Given the description of an element on the screen output the (x, y) to click on. 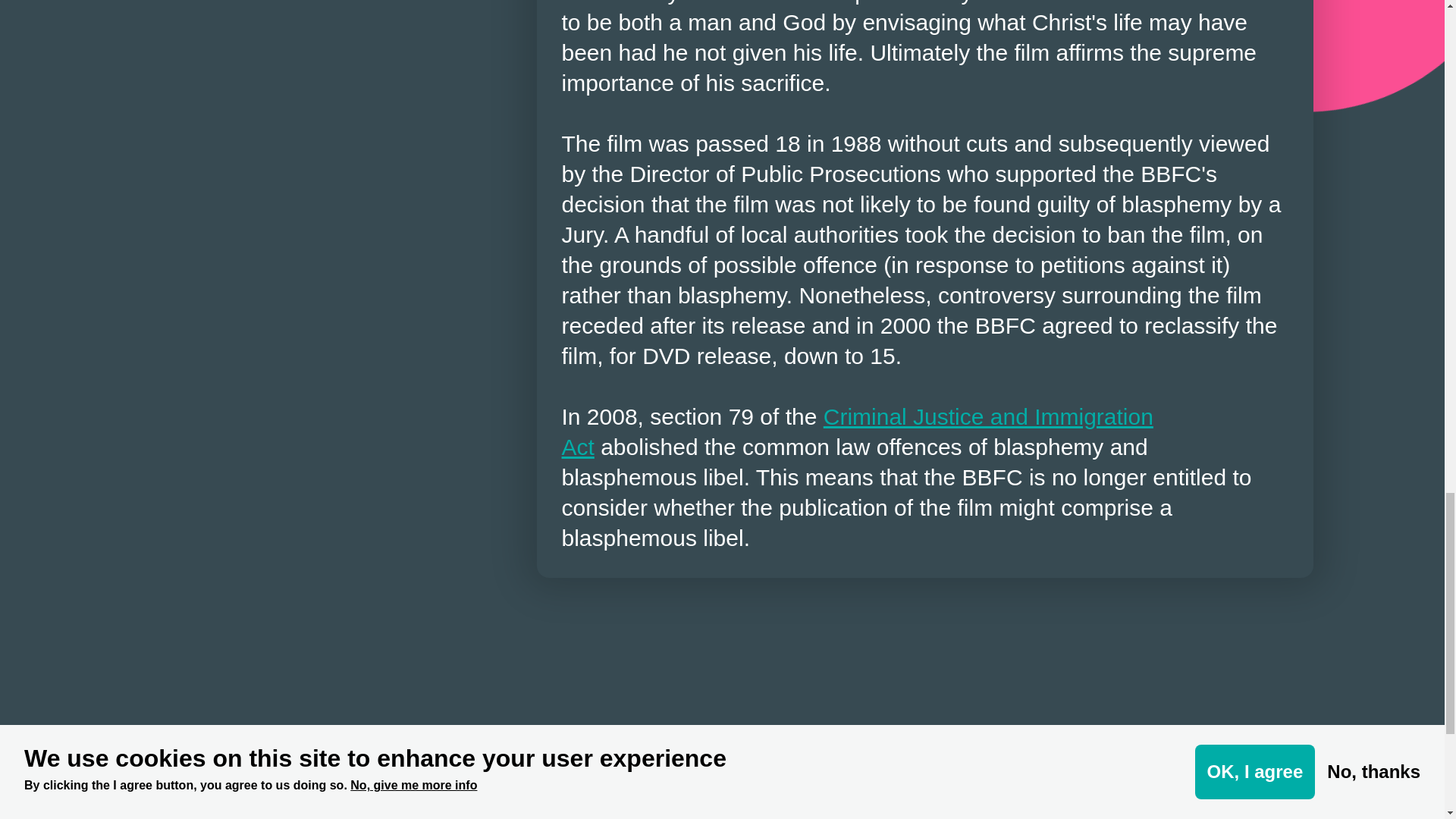
Criminal Justice and Immigration Act (856, 431)
Privacy Statement (1206, 798)
Website Terms and Conditions (1206, 768)
Media Centre (576, 768)
About Classification (869, 798)
Education (869, 816)
Contact us (576, 798)
About us (869, 768)
